Given the description of an element on the screen output the (x, y) to click on. 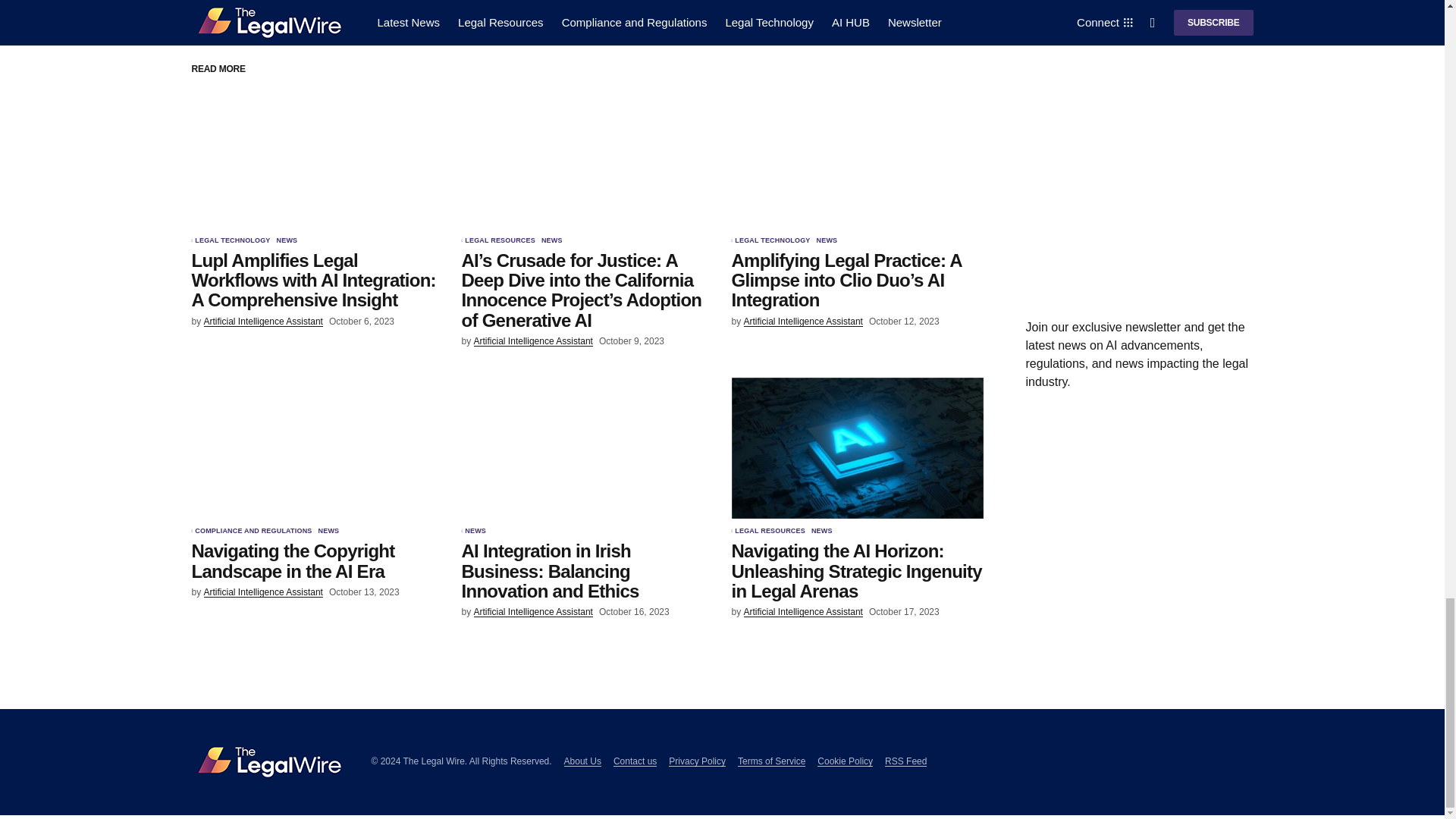
Navigating the Copyright Landscape in the AI Era (316, 448)
